Given the description of an element on the screen output the (x, y) to click on. 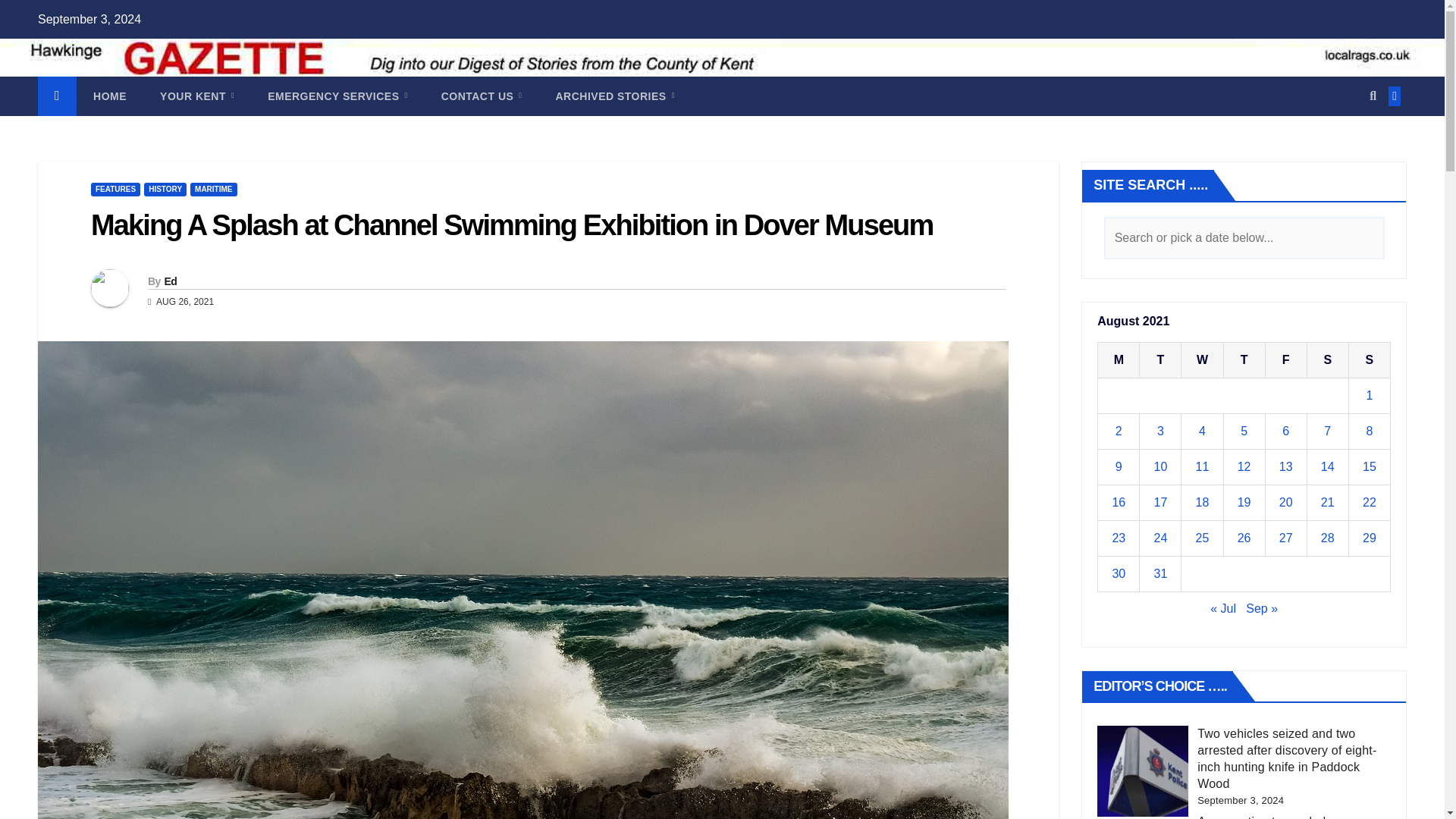
HOME (109, 96)
HOME (109, 96)
YOUR KENT (196, 96)
YOUR KENT (196, 96)
